Given the description of an element on the screen output the (x, y) to click on. 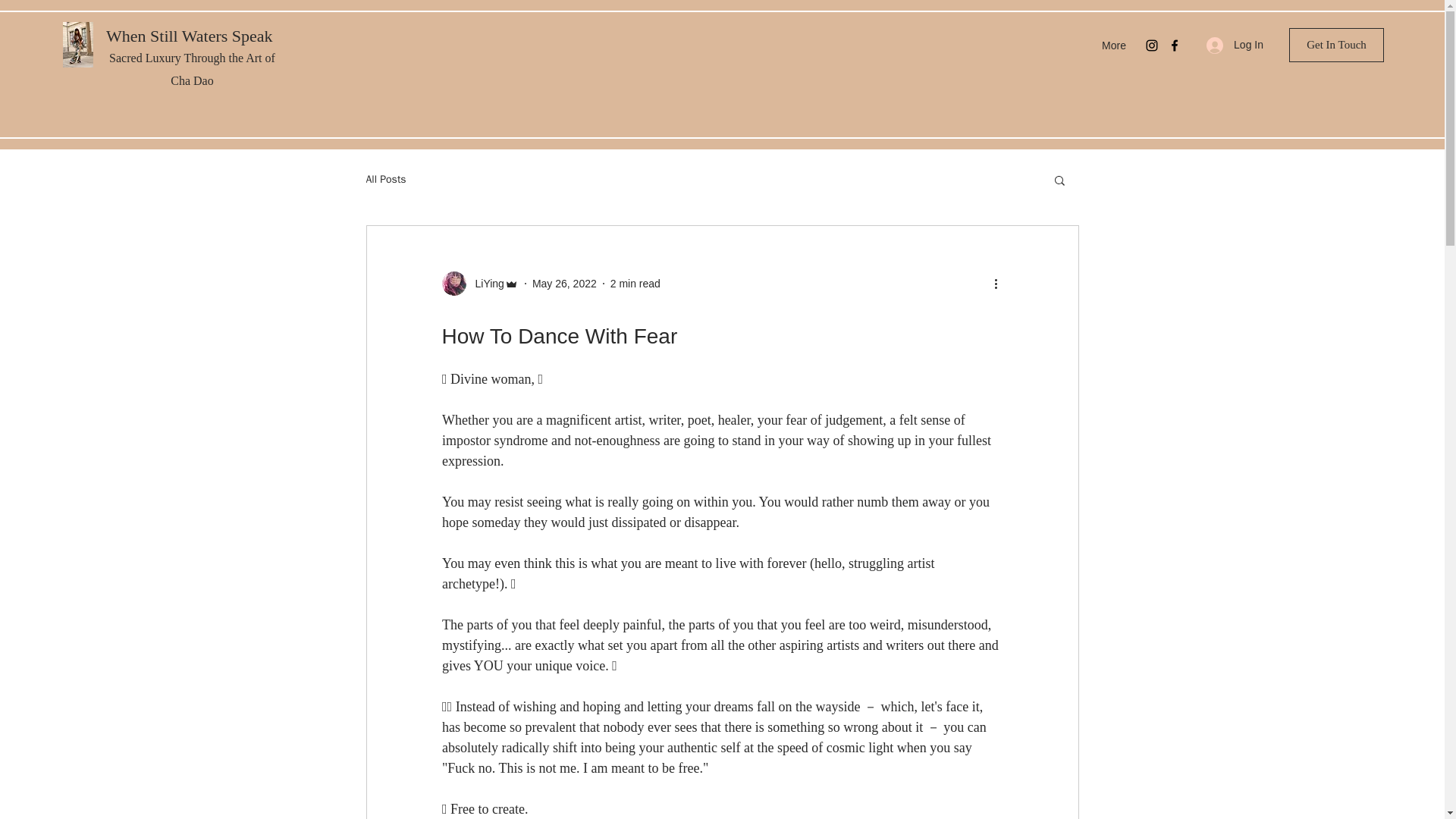
When Still Waters Speak (189, 35)
All Posts (385, 179)
LiYing (479, 283)
2 min read (635, 283)
Get In Touch (1336, 44)
LiYing (484, 283)
May 26, 2022 (564, 283)
Log In (1234, 44)
